Given the description of an element on the screen output the (x, y) to click on. 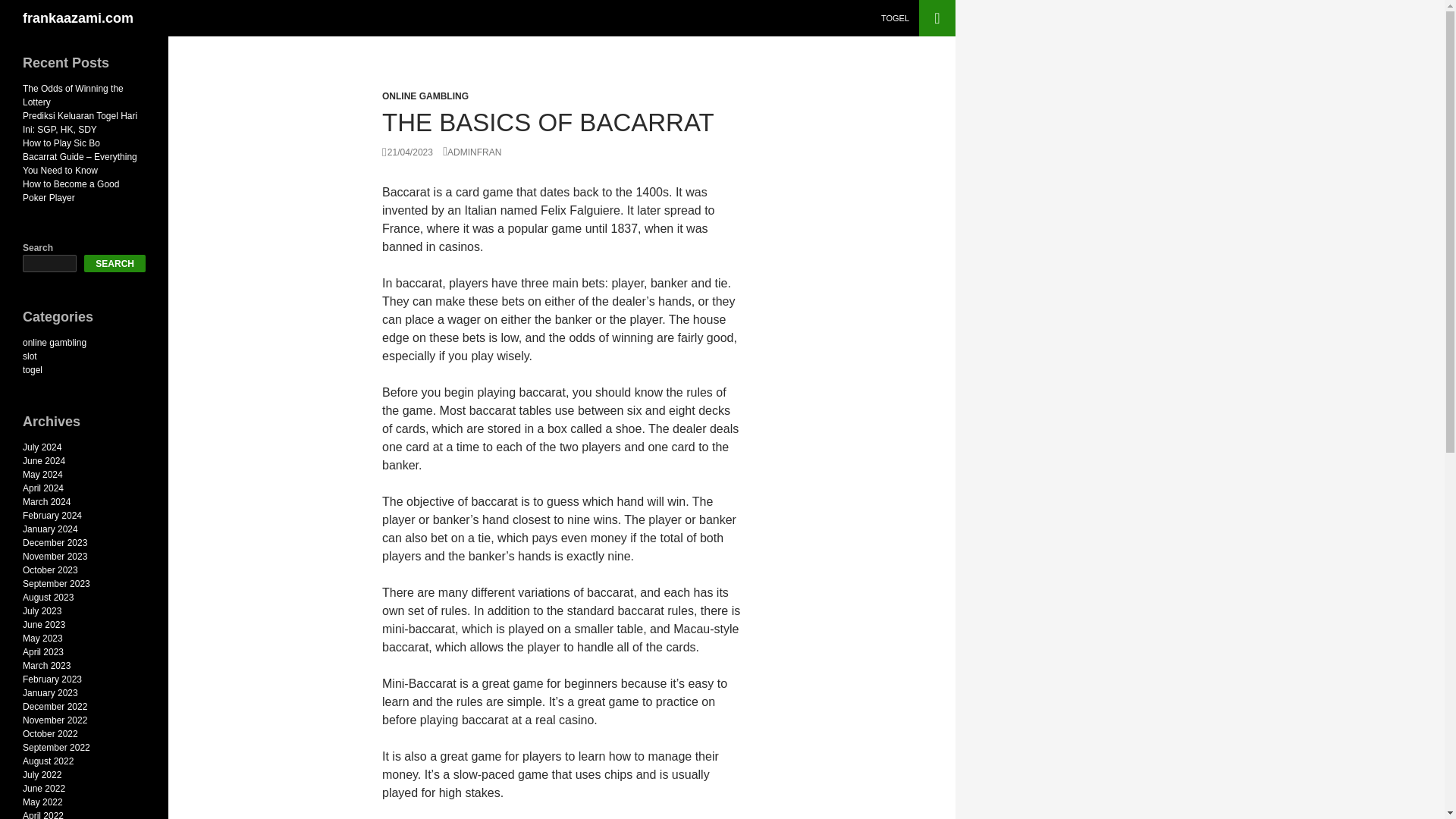
November 2023 (55, 556)
May 2023 (42, 638)
online gambling (54, 342)
March 2024 (46, 501)
August 2023 (48, 597)
May 2024 (42, 474)
October 2023 (50, 570)
July 2023 (42, 611)
July 2024 (42, 447)
December 2022 (55, 706)
How to Play Sic Bo (61, 143)
togel (32, 369)
June 2024 (44, 460)
Prediksi Keluaran Togel Hari Ini: SGP, HK, SDY (79, 122)
ONLINE GAMBLING (424, 95)
